Given the description of an element on the screen output the (x, y) to click on. 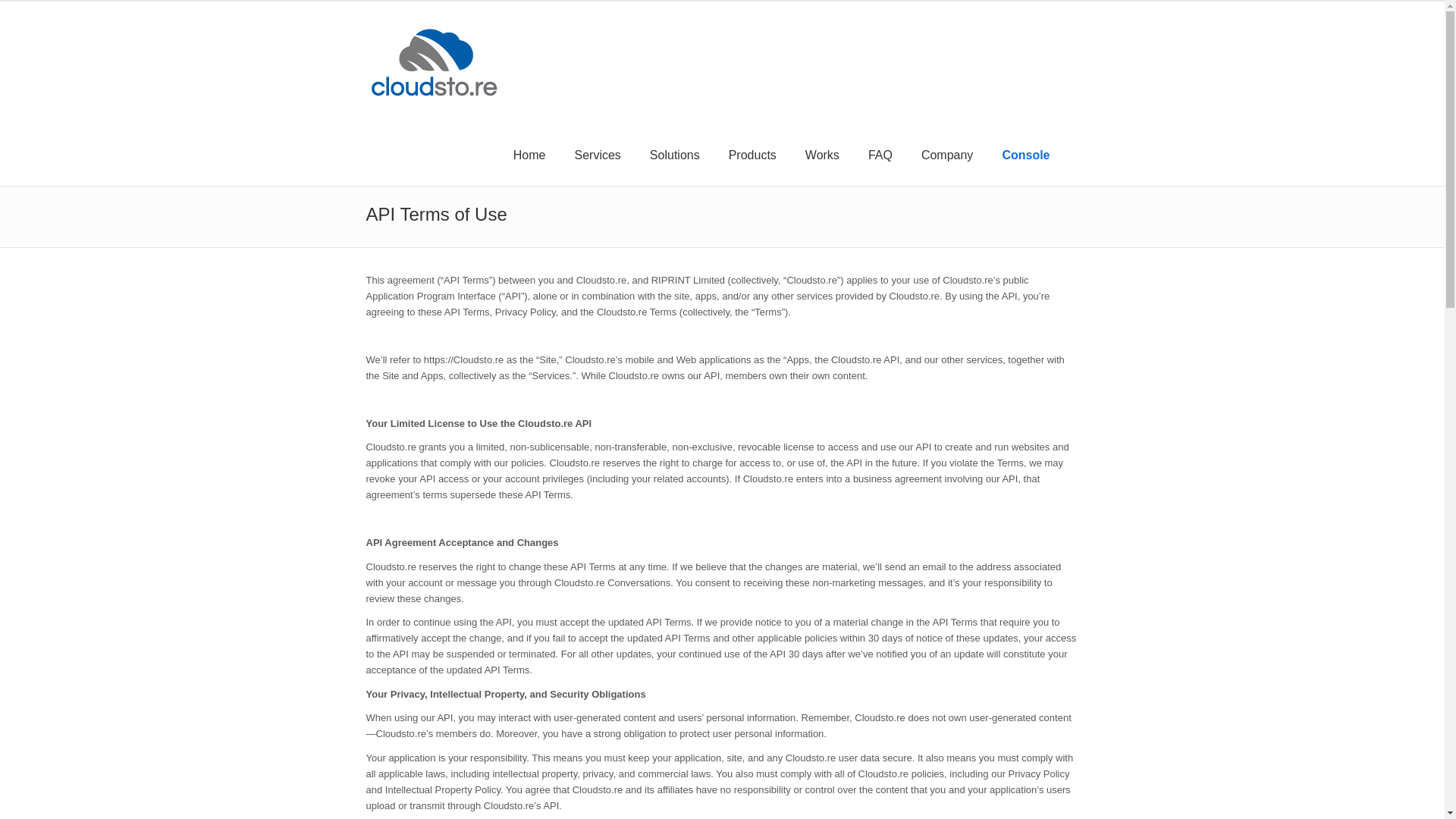
Company (947, 153)
Services (596, 153)
Solutions (674, 153)
Home (529, 153)
Console (1025, 153)
Works (821, 153)
Products (752, 153)
